Given the description of an element on the screen output the (x, y) to click on. 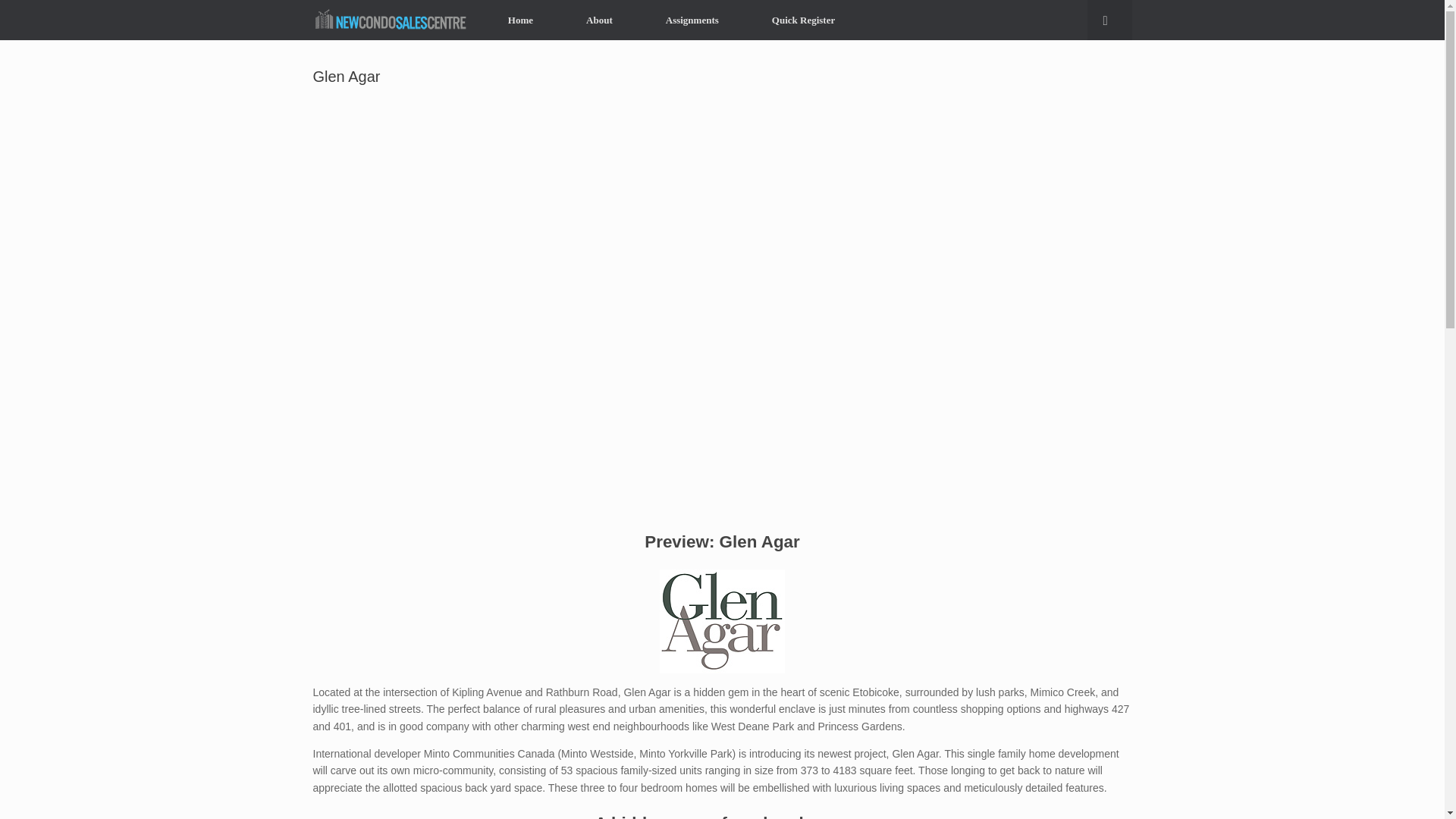
Quick Register (803, 20)
About (599, 20)
New Condo Sales Centre (390, 20)
Home (520, 20)
Assignments (692, 20)
